Given the description of an element on the screen output the (x, y) to click on. 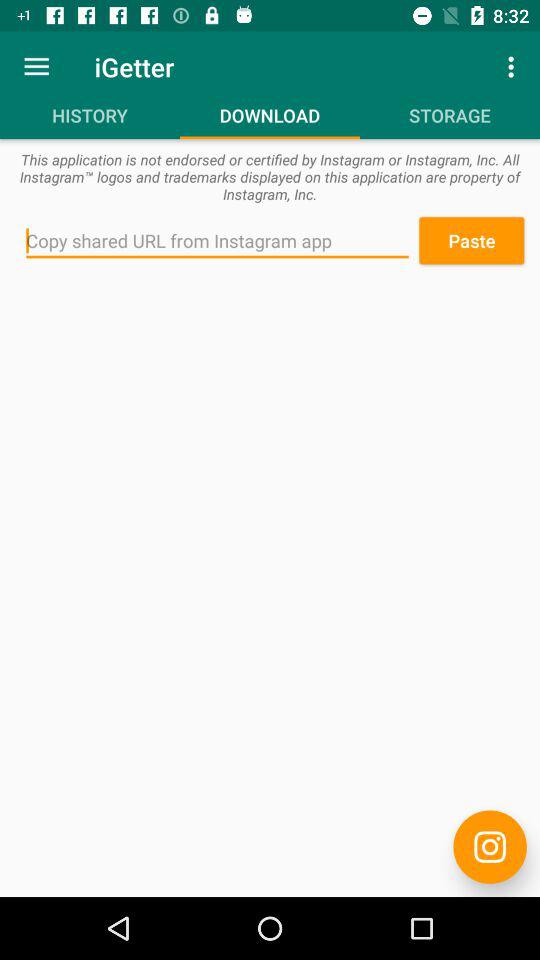
share on social media (489, 846)
